Given the description of an element on the screen output the (x, y) to click on. 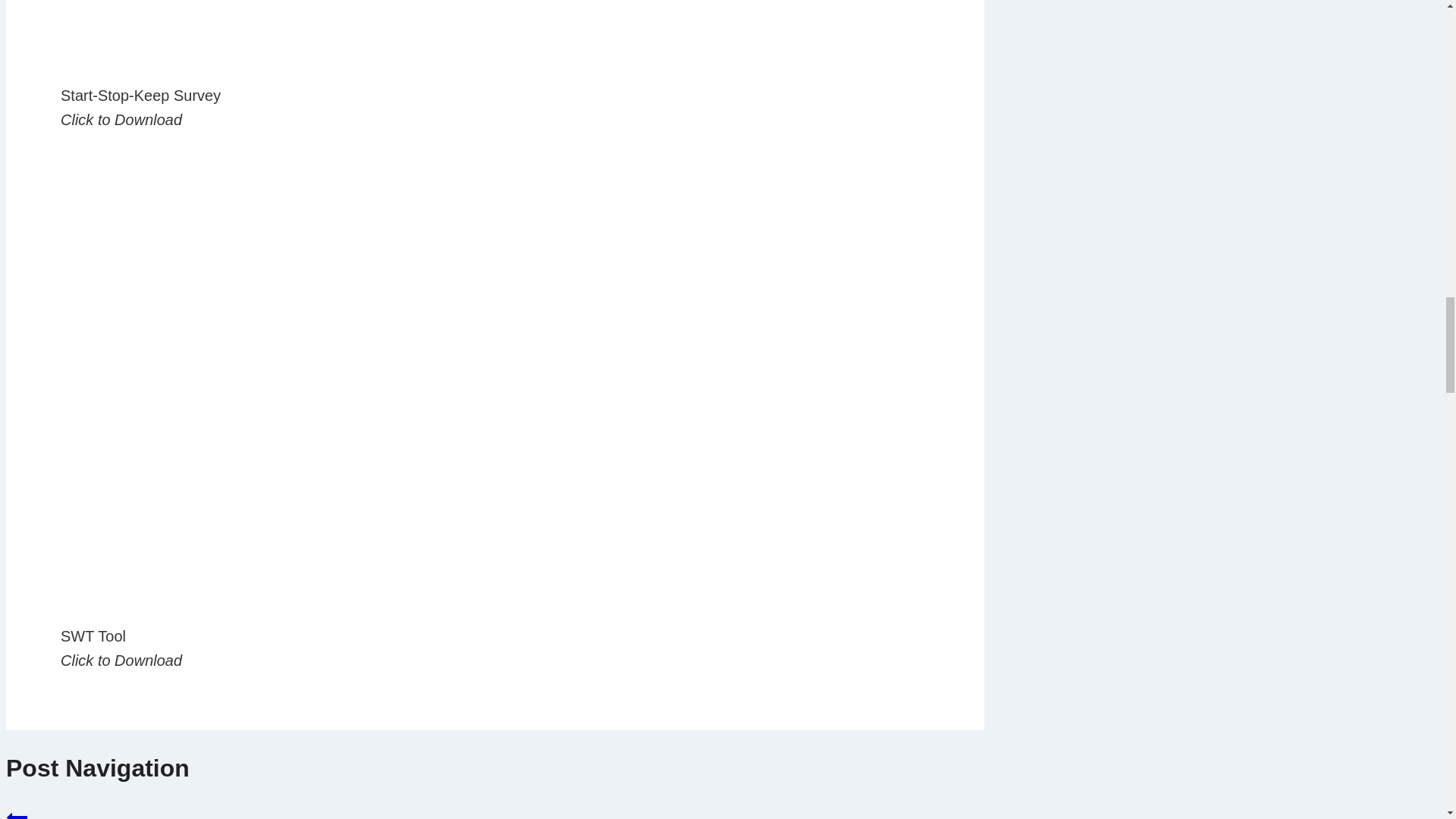
Previous (16, 812)
